Given the description of an element on the screen output the (x, y) to click on. 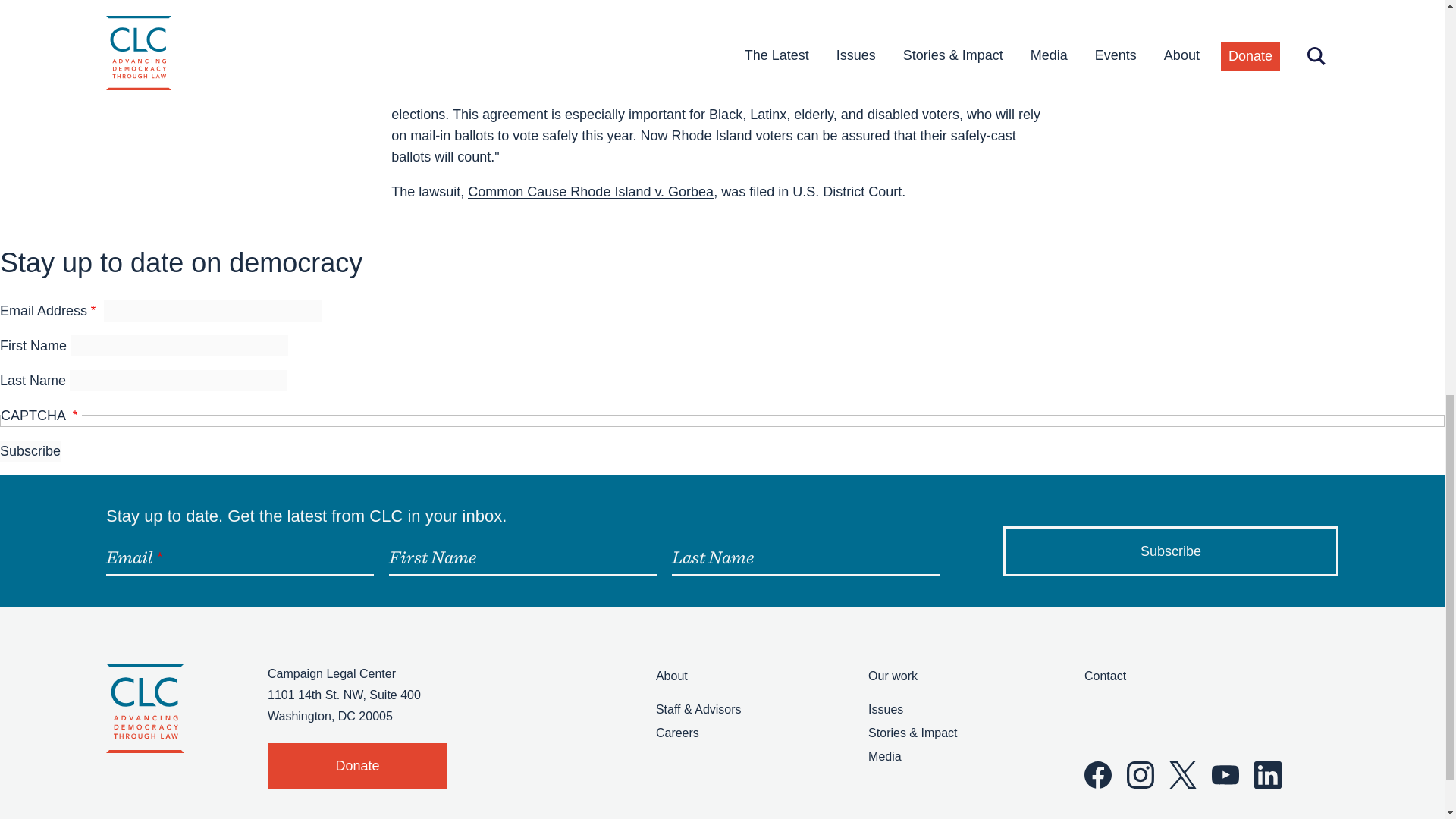
Issues (884, 708)
Subscribe (1170, 551)
Subscribe (1170, 551)
Subscribe (30, 450)
Donate (356, 765)
Careers (677, 732)
Media (884, 756)
Careers (677, 732)
Contact (1104, 675)
Facebook (1098, 774)
